Given the description of an element on the screen output the (x, y) to click on. 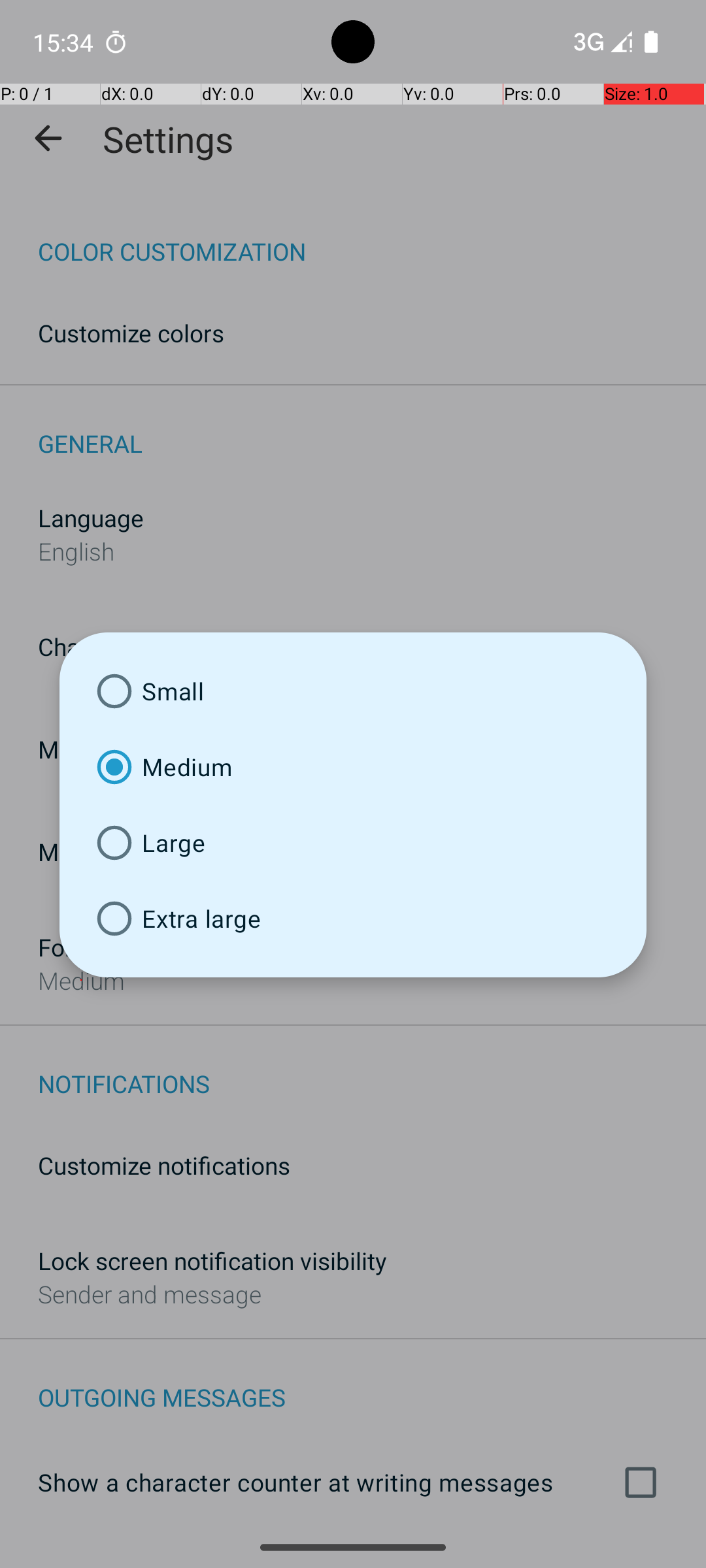
Small Element type: android.widget.RadioButton (352, 691)
Large Element type: android.widget.RadioButton (352, 842)
Extra large Element type: android.widget.RadioButton (352, 918)
